Given the description of an element on the screen output the (x, y) to click on. 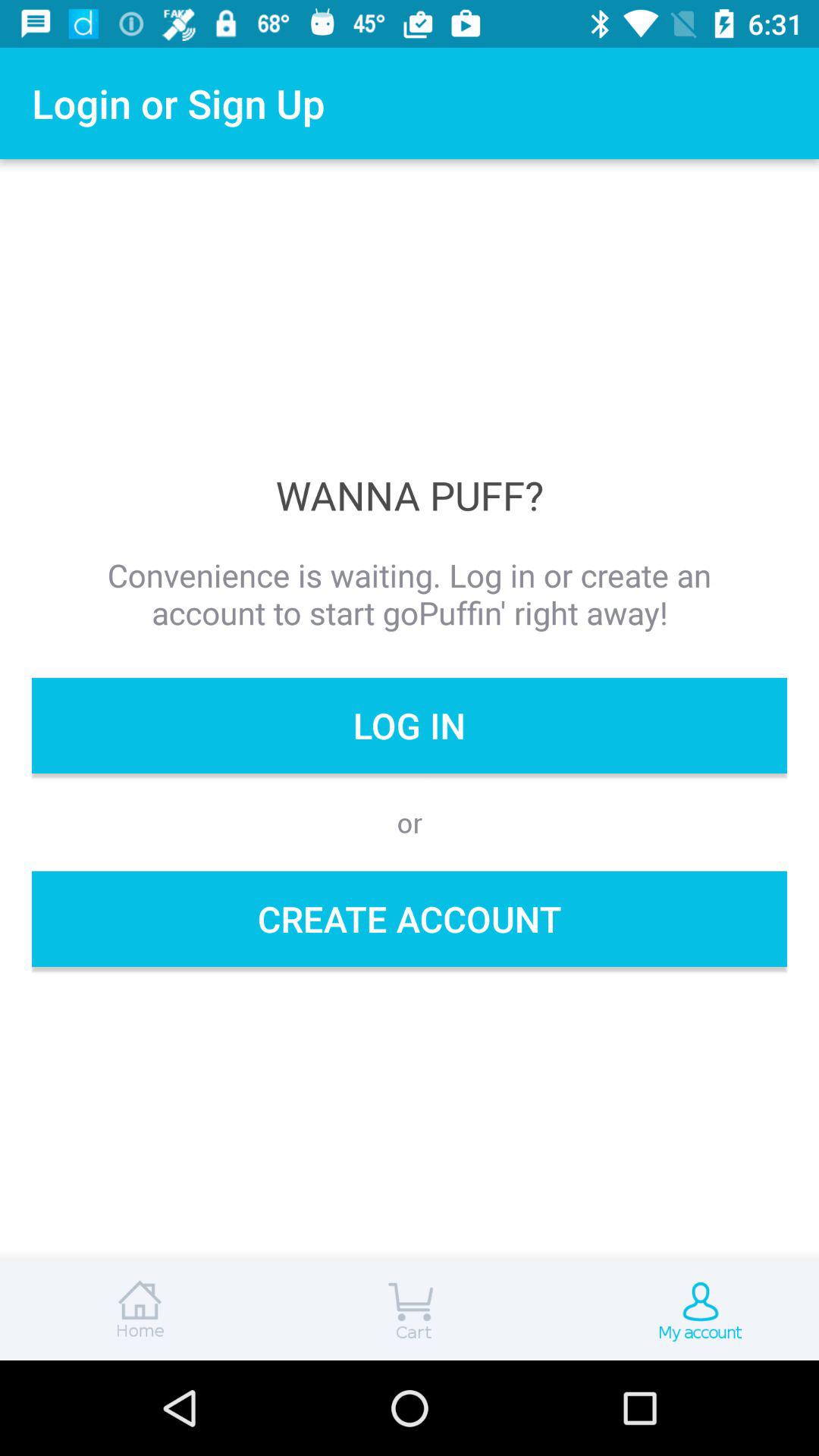
go to the home page (136, 1310)
